Given the description of an element on the screen output the (x, y) to click on. 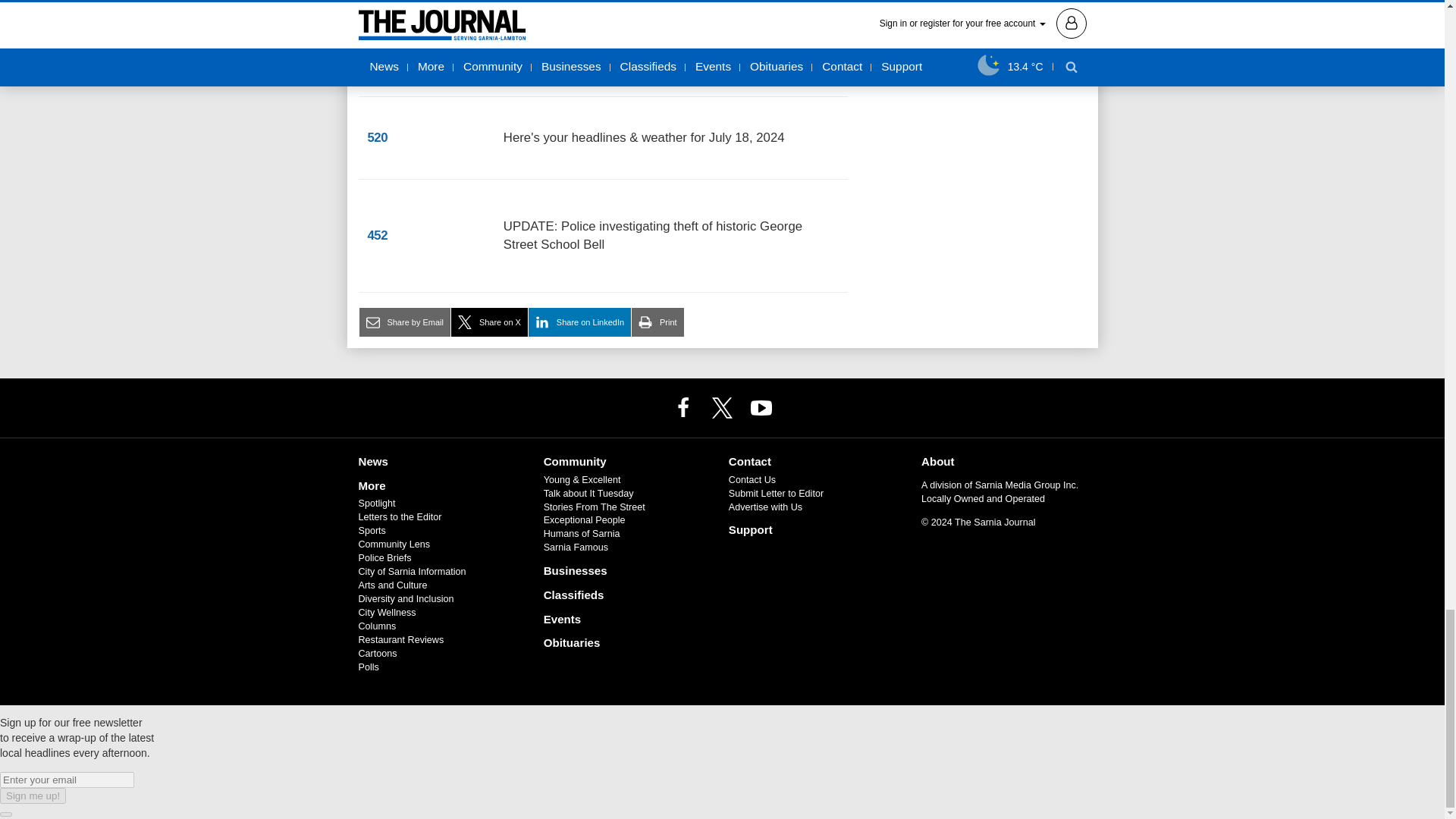
X (721, 407)
YouTube (760, 407)
Facebook (683, 407)
